Given the description of an element on the screen output the (x, y) to click on. 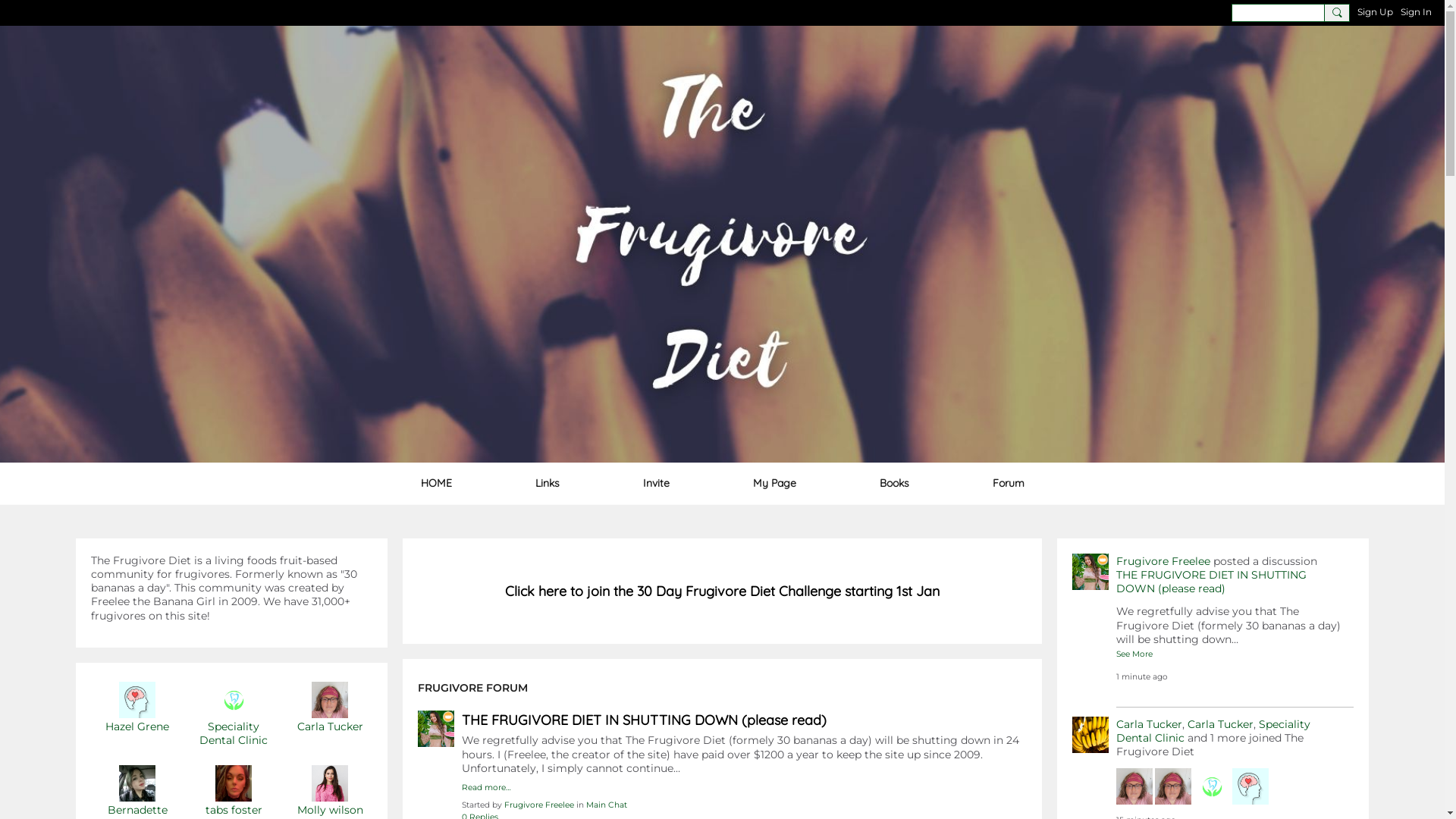
Hazel Grene Element type: text (137, 726)
Invite Element type: text (655, 482)
Bernadette Palmer Element type: hover (137, 783)
My Page Element type: text (774, 482)
FRUGIVORE FORUM Element type: text (472, 687)
Links Element type: text (546, 482)
Speciality Dental Clinic Element type: hover (233, 699)
Books Element type: text (893, 482)
Carla Tucker Element type: text (330, 726)
Sign Up Element type: text (1375, 11)
THE FRUGIVORE DIET IN SHUTTING DOWN (please read) Element type: text (1211, 581)
Forum Element type: text (1008, 482)
Sign In Element type: text (1415, 11)
Speciality Dental Clinic Element type: text (1213, 730)
Main Chat Element type: text (606, 804)
Carla Tucker Element type: text (1220, 724)
HOME Element type: text (436, 482)
Speciality Dental Clinic Element type: text (233, 732)
Molly wilson Element type: hover (329, 783)
Molly wilson Element type: text (330, 809)
See More Element type: text (1134, 652)
THE FRUGIVORE DIET IN SHUTTING DOWN (please read) Element type: text (643, 719)
Hazel Grene Element type: hover (137, 699)
tabs foster Element type: text (233, 809)
Frugivore Freelee Element type: text (539, 804)
Carla Tucker Element type: hover (329, 699)
Carla Tucker Element type: text (1149, 724)
Frugivore Freelee Element type: text (1163, 560)
tabs foster Element type: hover (233, 783)
